Given the description of an element on the screen output the (x, y) to click on. 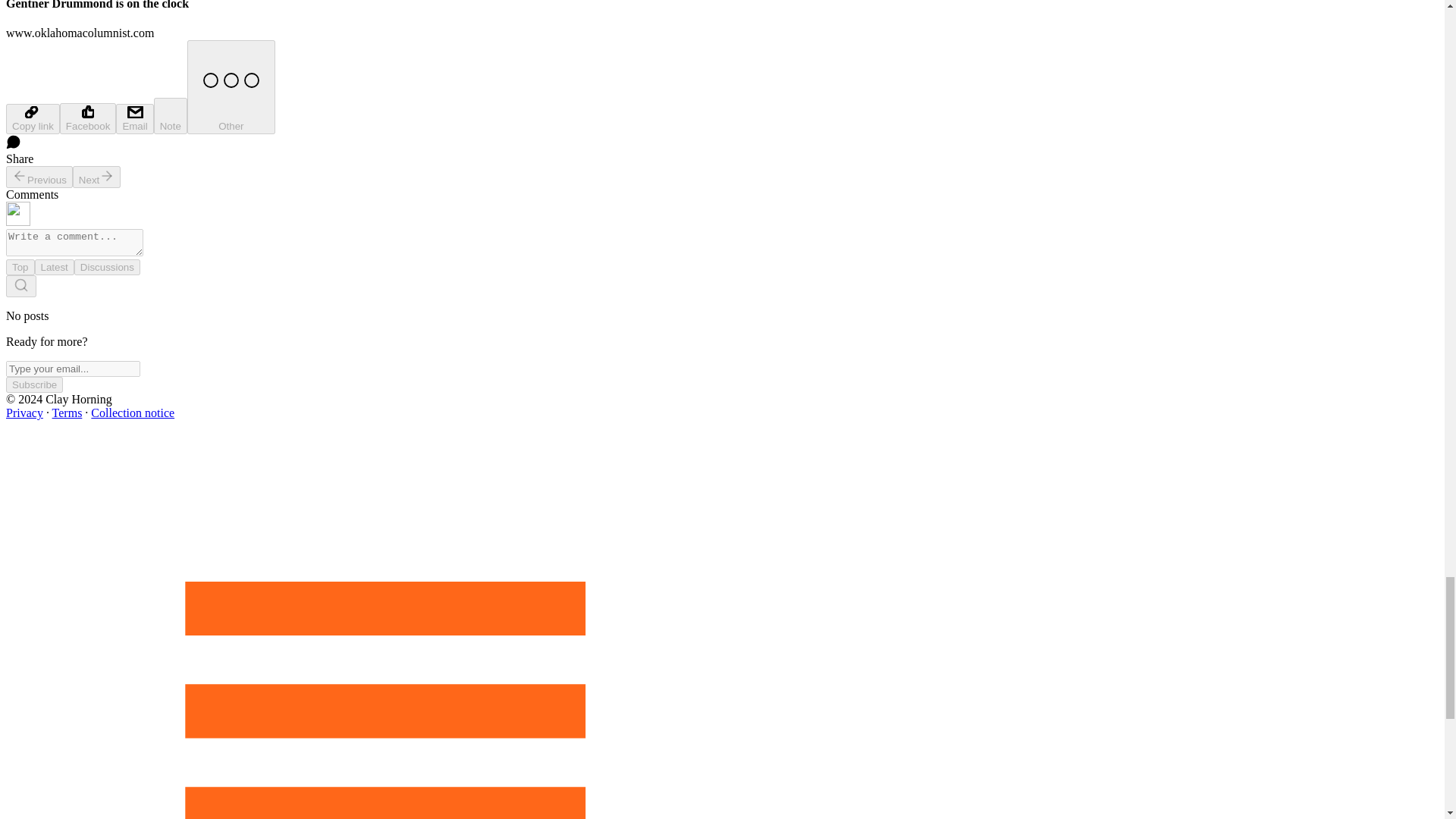
Facebook (87, 118)
Other (231, 87)
Email (134, 119)
Copy link (32, 119)
Note (170, 115)
